Given the description of an element on the screen output the (x, y) to click on. 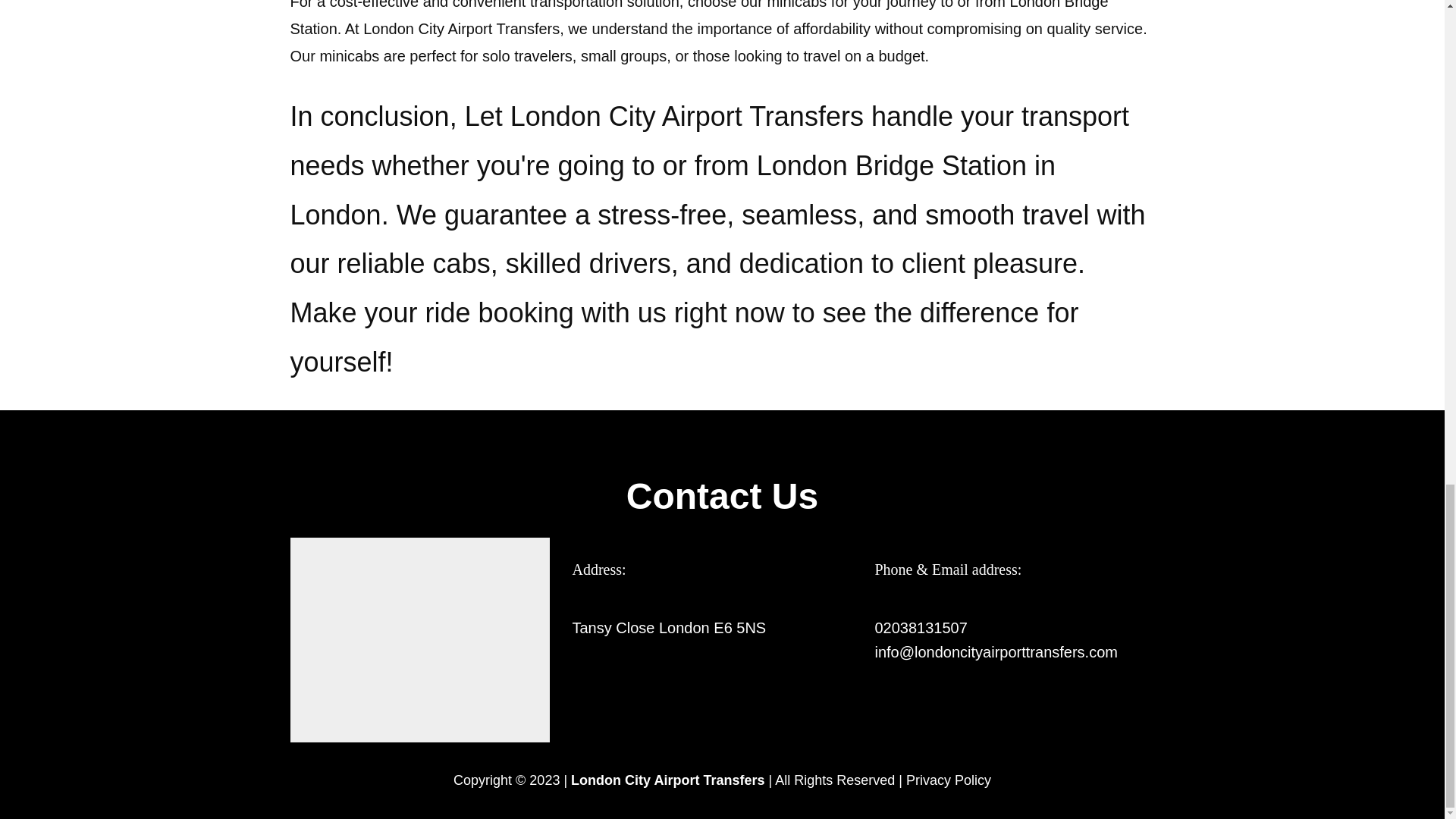
Privacy Policy (948, 780)
